Given the description of an element on the screen output the (x, y) to click on. 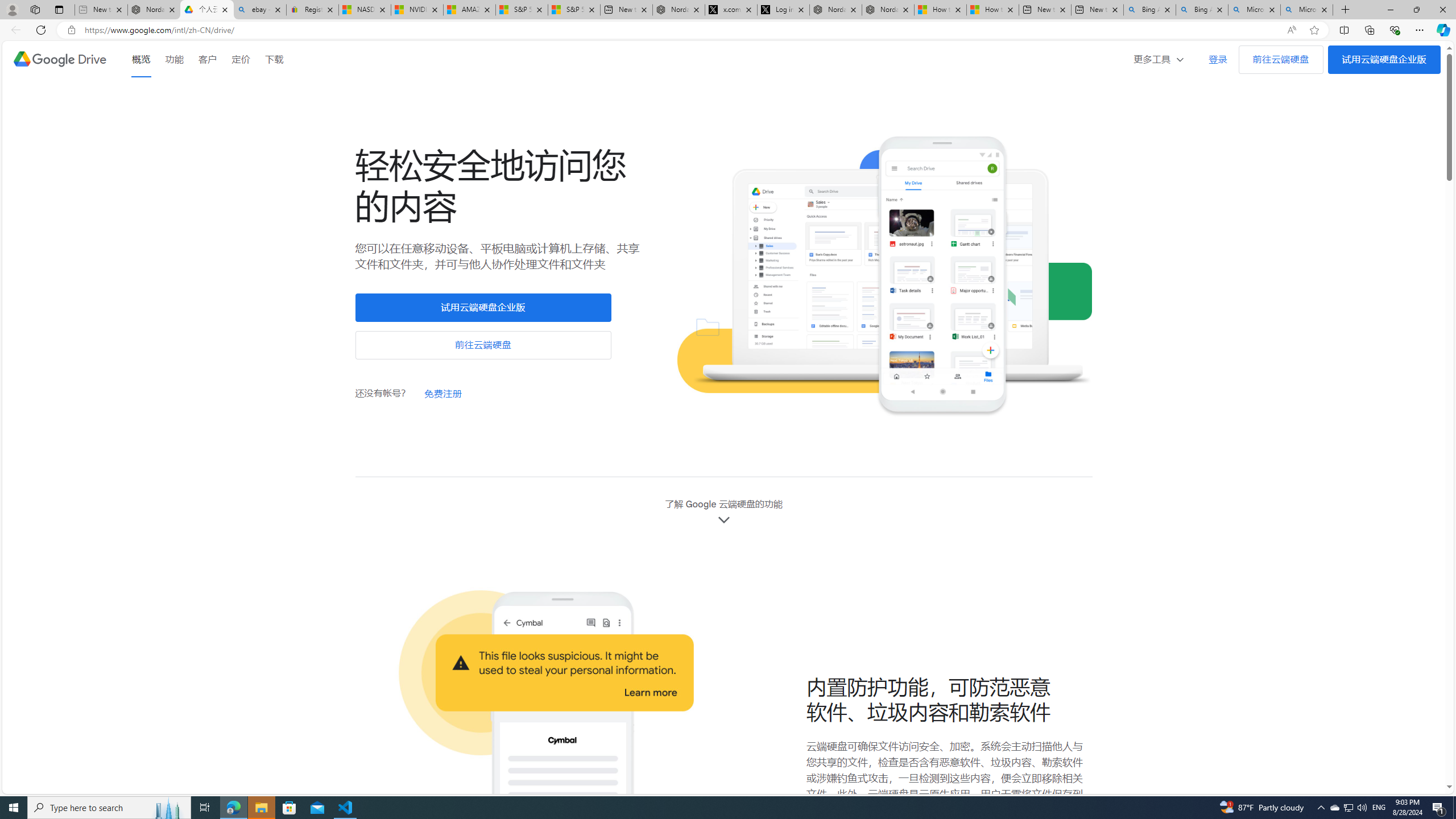
Register: Create a personal eBay account (312, 9)
drive-hero (884, 276)
